Given the description of an element on the screen output the (x, y) to click on. 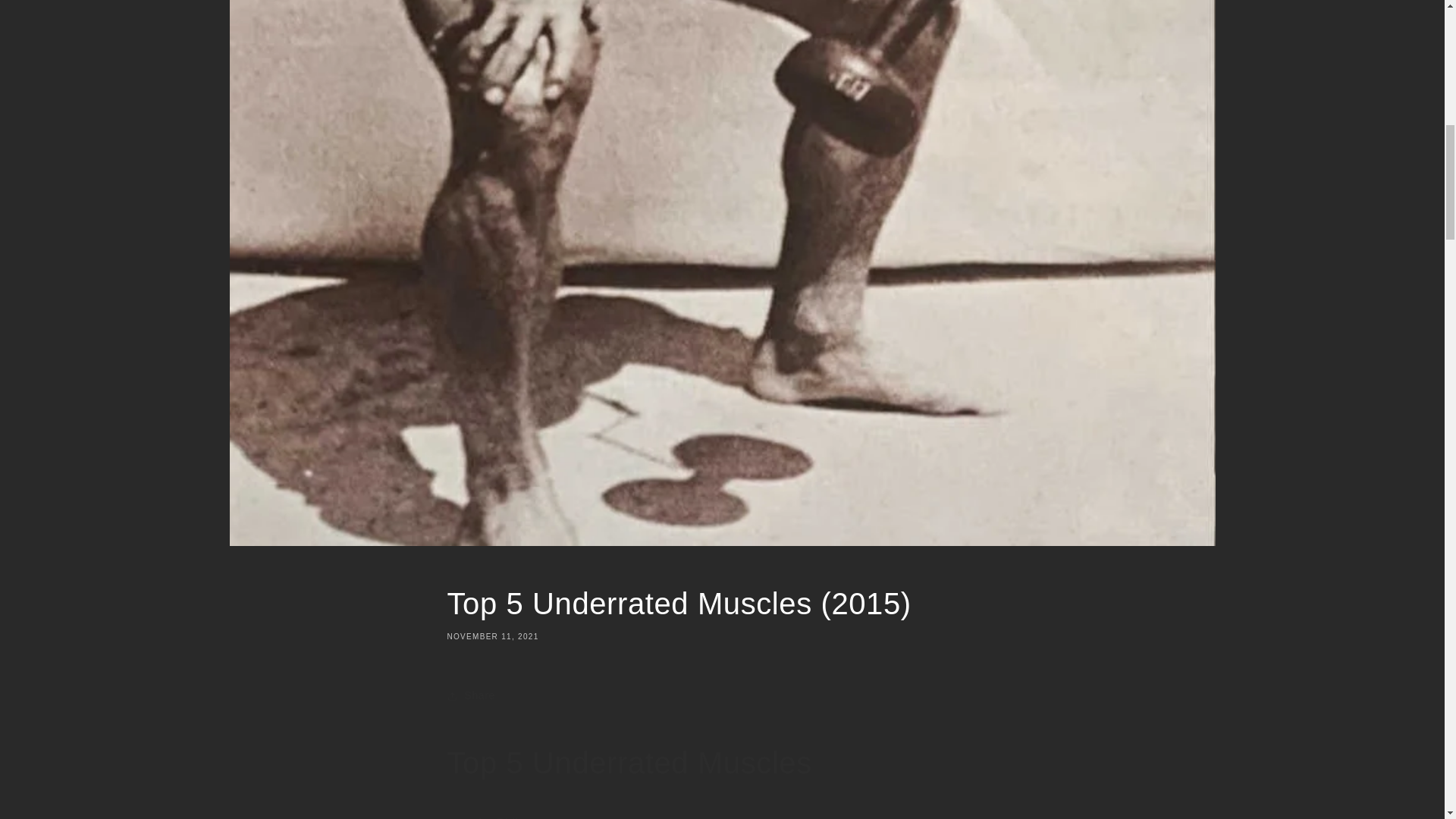
Phil (507, 817)
Share (721, 695)
